Given the description of an element on the screen output the (x, y) to click on. 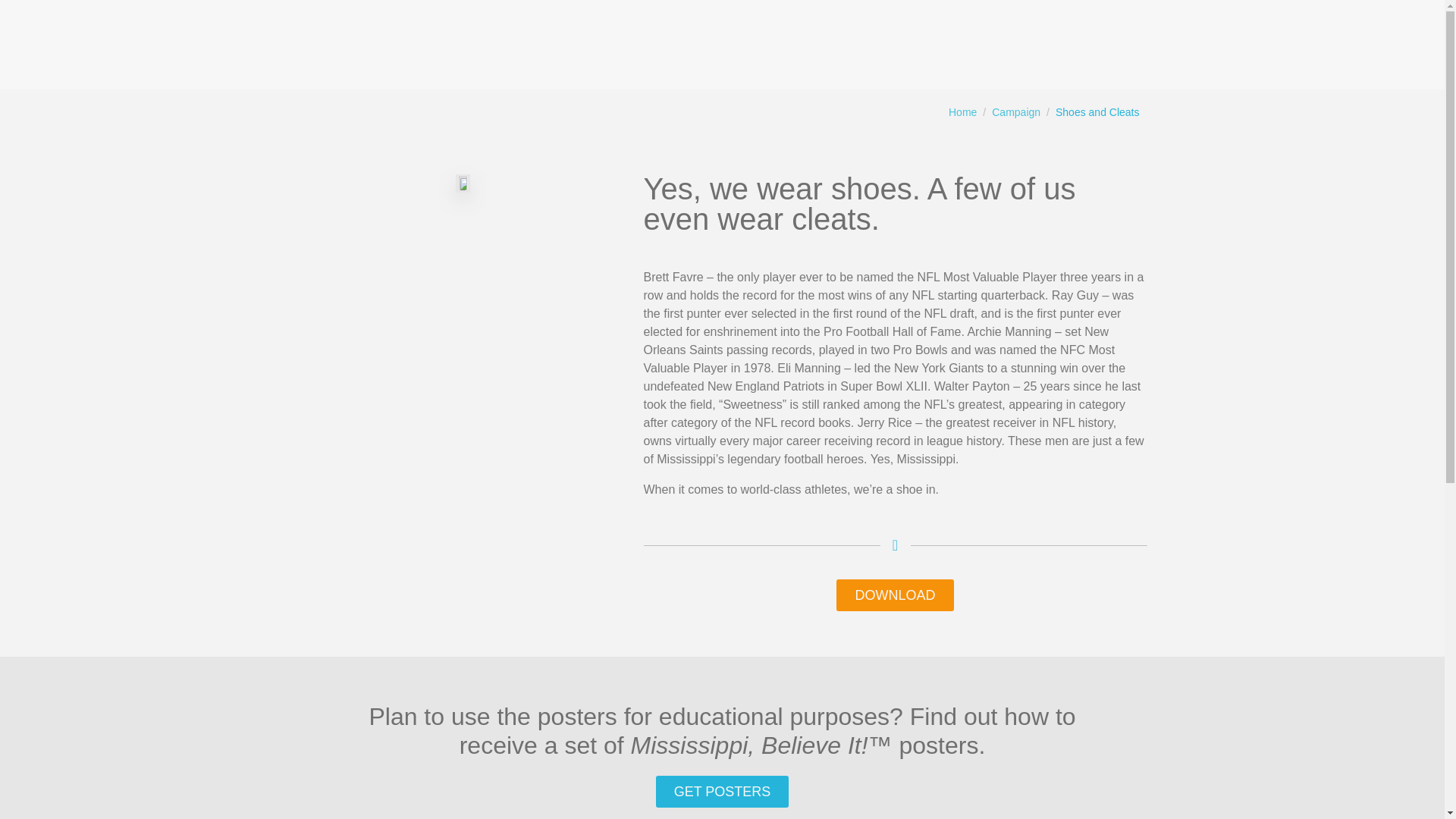
DOWNLOAD (894, 594)
GET POSTERS (722, 791)
Campaign (1016, 111)
Home (962, 111)
